Given the description of an element on the screen output the (x, y) to click on. 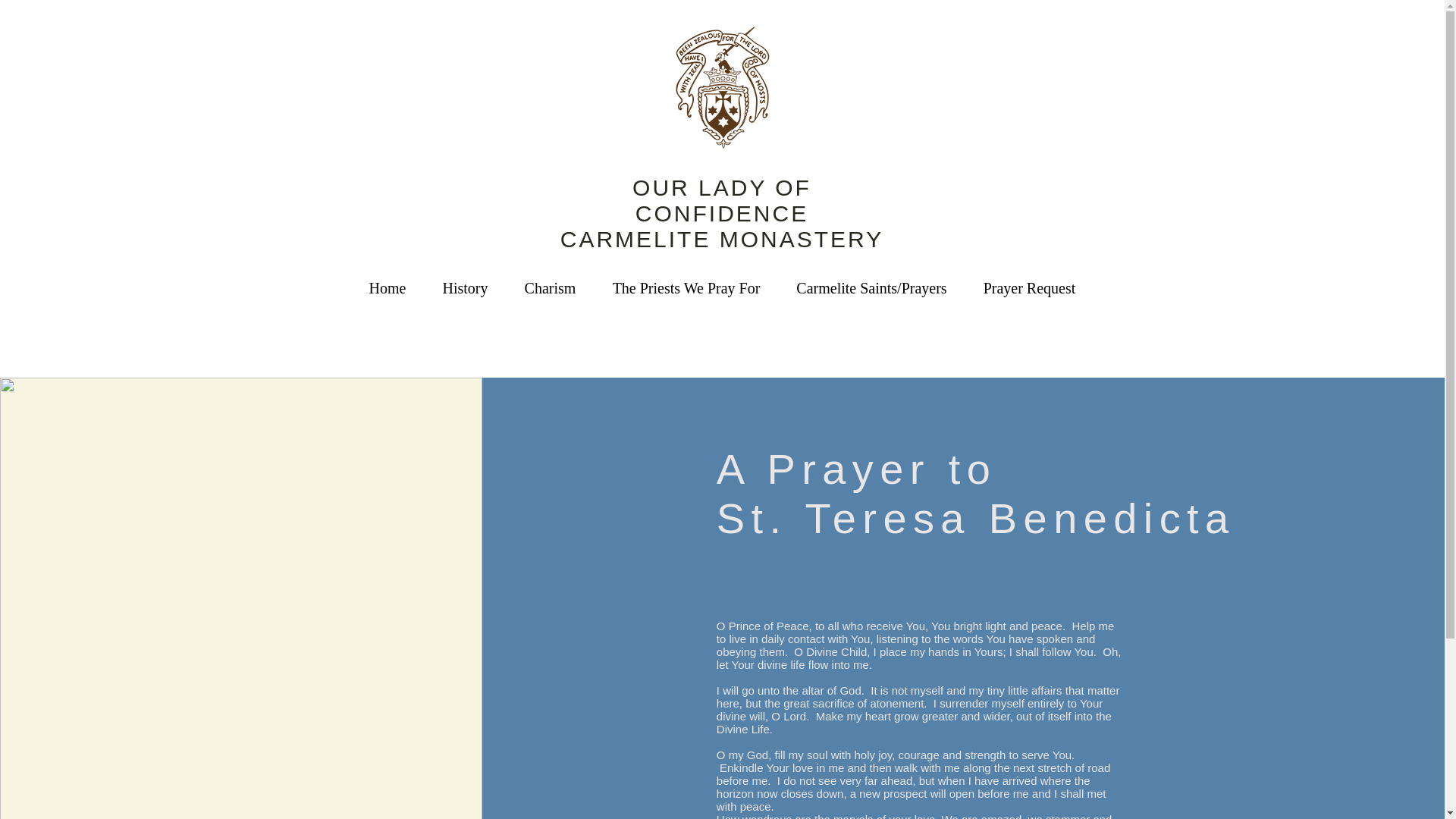
History (465, 287)
The Priests We Pray For (686, 287)
Prayer Request (1028, 287)
Home (386, 287)
Charism (550, 287)
OUR LADY OF CONFIDENCE (720, 200)
